Given the description of an element on the screen output the (x, y) to click on. 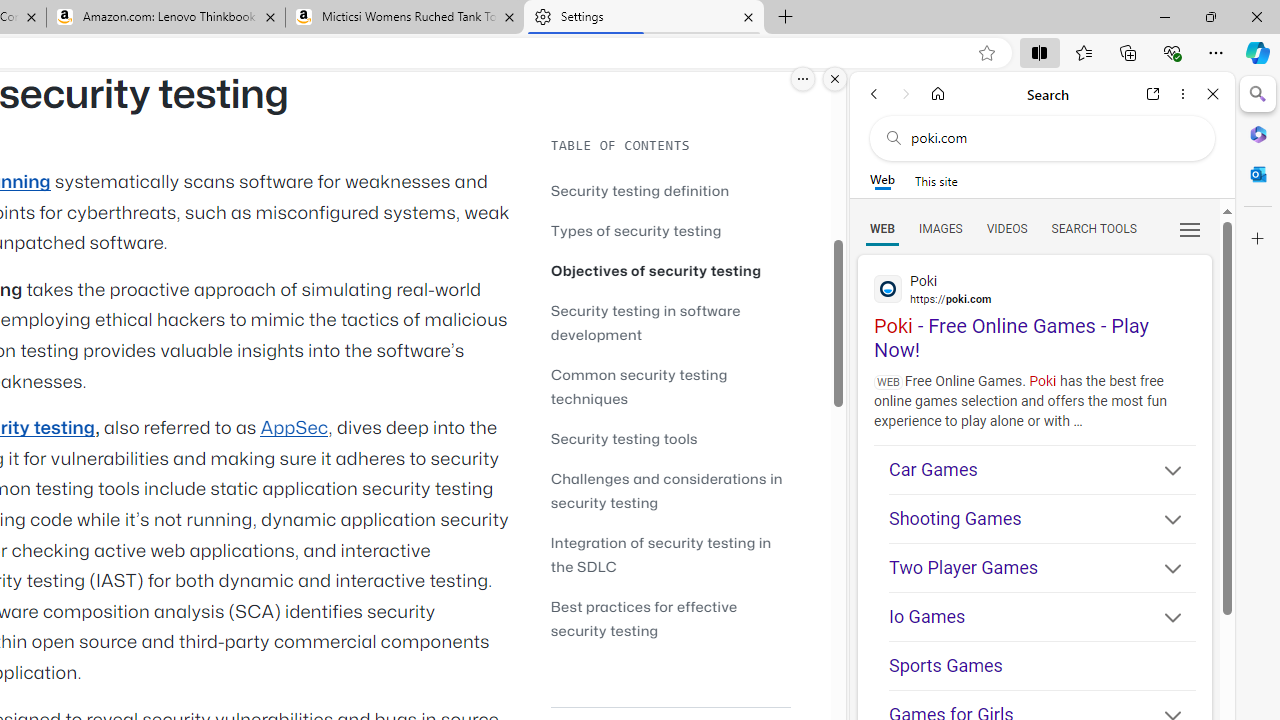
Two Player Games (1042, 568)
Poki - Free Online Games - Play Now! (1034, 309)
Show More Shooting Games (1164, 521)
Shooting Games (1042, 518)
Security testing definition (639, 190)
Sports Games (1042, 666)
Common security testing techniques (670, 386)
Types of security testing (635, 230)
More options. (803, 79)
AppSec (293, 428)
